Given the description of an element on the screen output the (x, y) to click on. 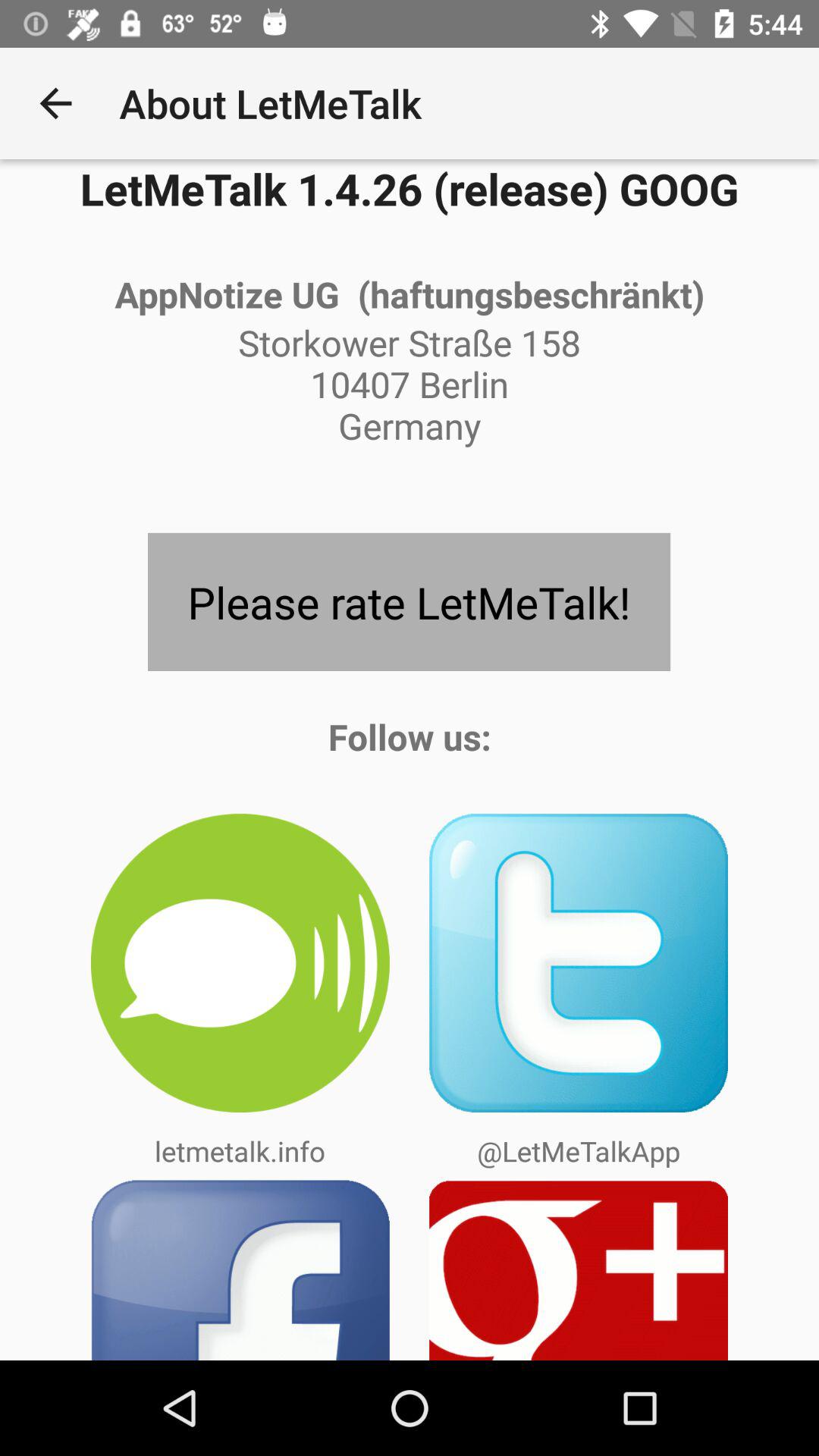
open item next to the about letmetalk app (55, 103)
